Given the description of an element on the screen output the (x, y) to click on. 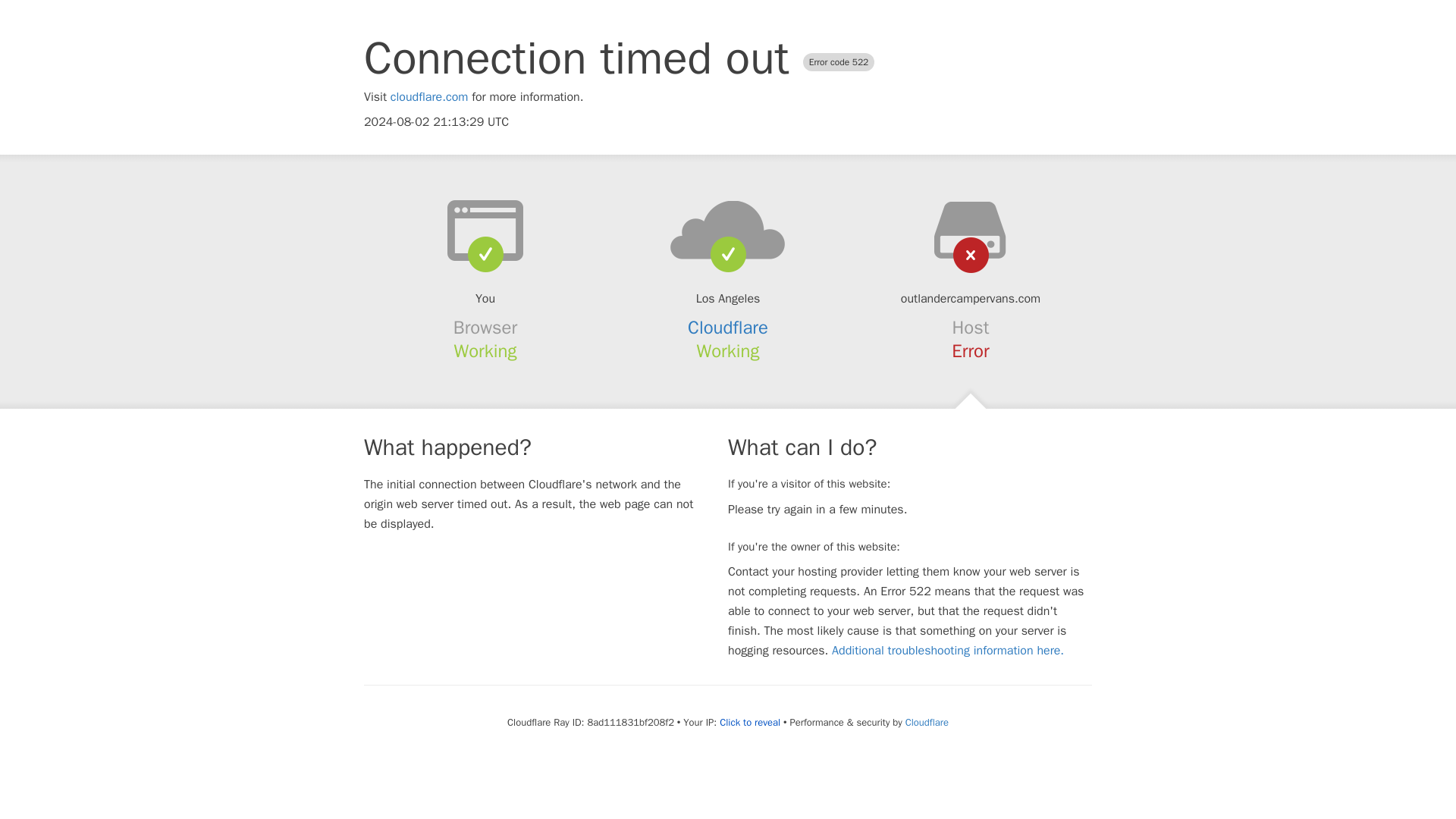
Cloudflare (927, 721)
Cloudflare (727, 327)
cloudflare.com (429, 96)
Click to reveal (749, 722)
Additional troubleshooting information here. (947, 650)
